Given the description of an element on the screen output the (x, y) to click on. 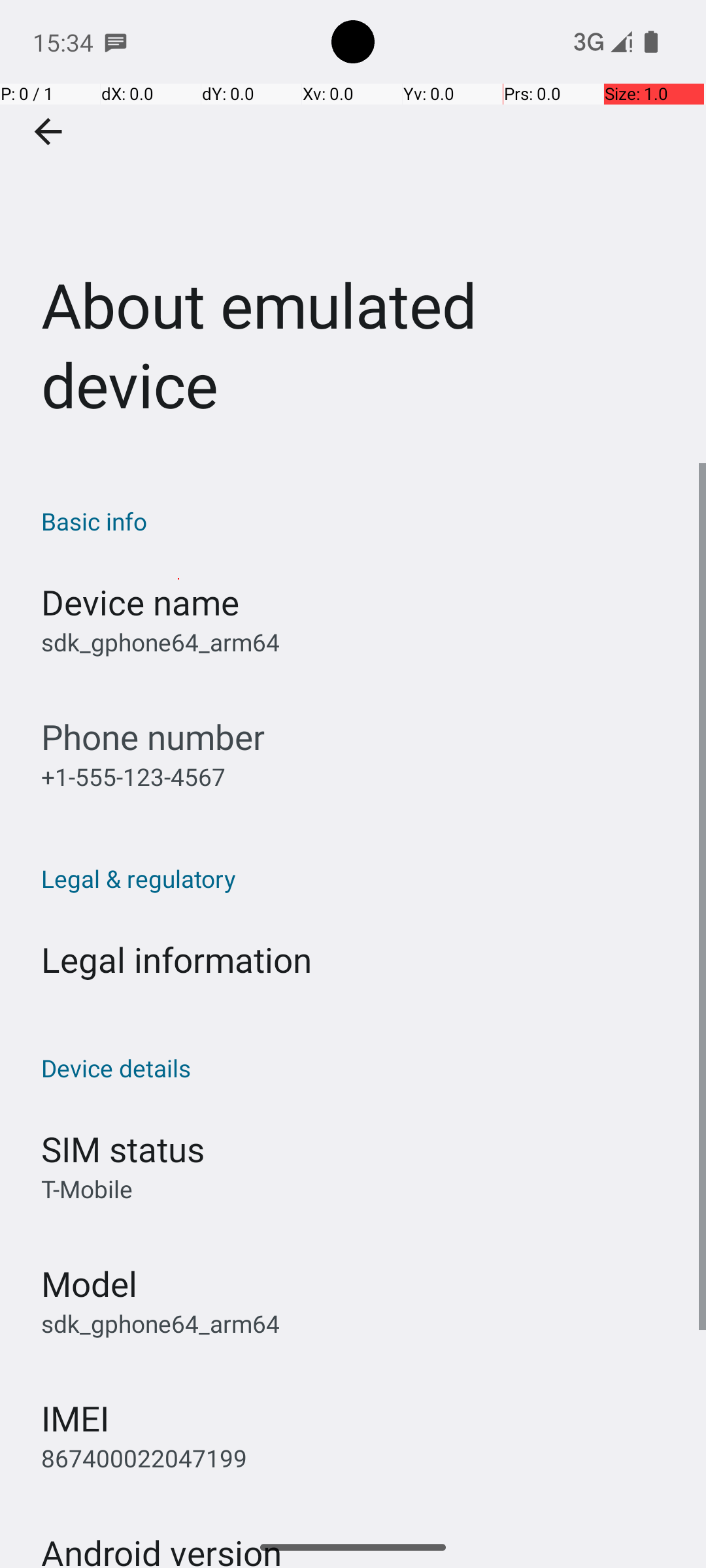
About emulated device Element type: android.widget.FrameLayout (353, 231)
Basic info Element type: android.widget.TextView (359, 520)
+1-555-123-4567 Element type: android.widget.TextView (133, 776)
Legal & regulatory Element type: android.widget.TextView (359, 878)
Legal information Element type: android.widget.TextView (176, 959)
Device details Element type: android.widget.TextView (359, 1067)
SIM status Element type: android.widget.TextView (122, 1148)
Model Element type: android.widget.TextView (89, 1283)
IMEI Element type: android.widget.TextView (75, 1417)
867400022047199 Element type: android.widget.TextView (144, 1457)
